Given the description of an element on the screen output the (x, y) to click on. 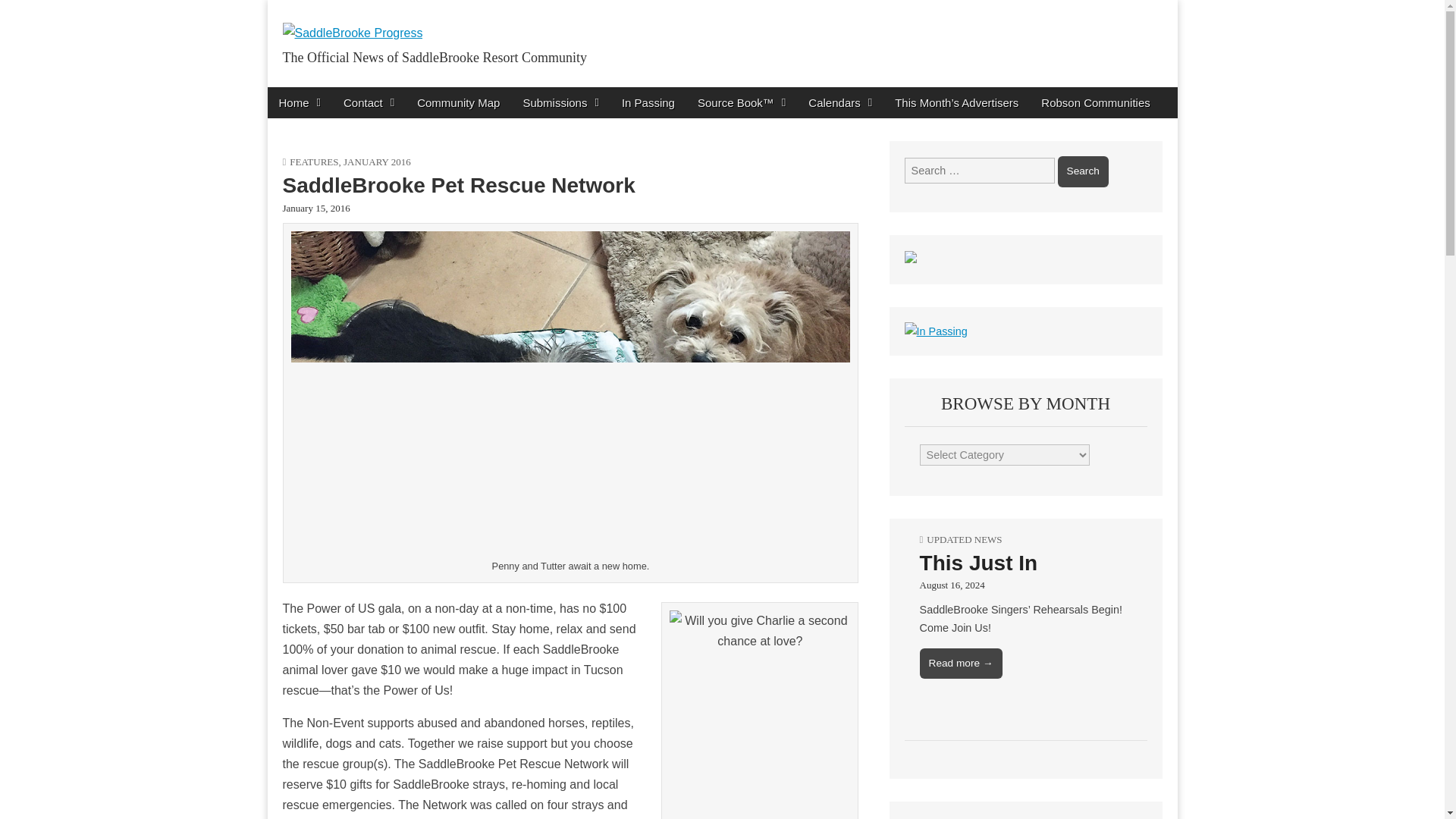
JANUARY 2016 (376, 161)
Calendars (839, 101)
SaddleBrooke Progress (452, 91)
Search (1083, 171)
Submissions (560, 101)
Robson Communities (1094, 101)
Home (298, 101)
SaddleBrooke Progress (352, 21)
